Given the description of an element on the screen output the (x, y) to click on. 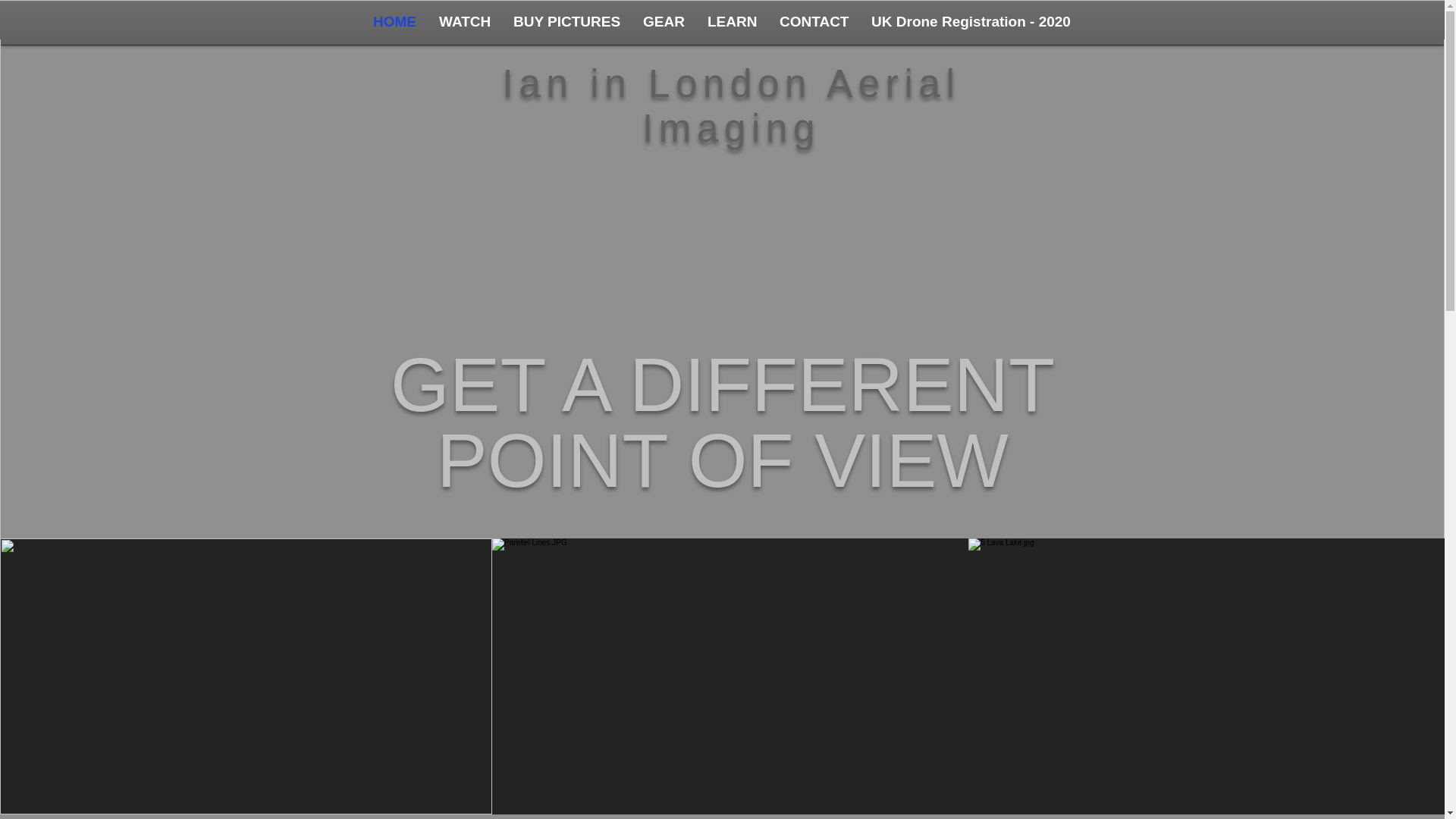
HOME (394, 21)
LEARN (731, 21)
WATCH (502, 818)
HOME (440, 818)
LEARN (736, 818)
CONTACT (814, 21)
WATCH (465, 21)
GEAR (677, 818)
Ian in London Aerial Imaging (731, 105)
